Given the description of an element on the screen output the (x, y) to click on. 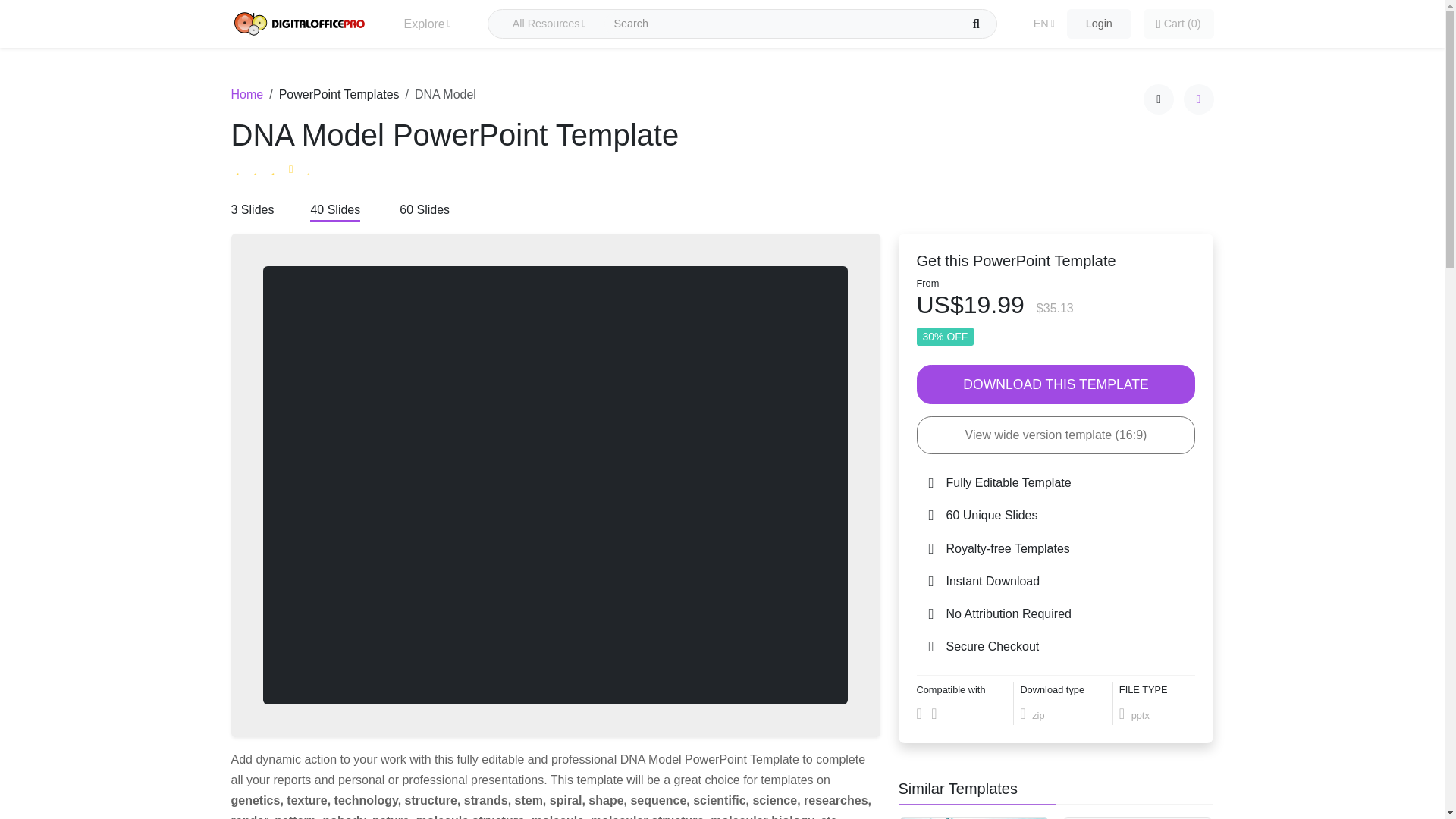
Explore (426, 23)
PowerPoint Templates (338, 93)
3 Slides (251, 210)
Login (1099, 24)
40 Slides (334, 210)
All Resources (549, 23)
Home (246, 93)
60 Slides (423, 210)
